Given the description of an element on the screen output the (x, y) to click on. 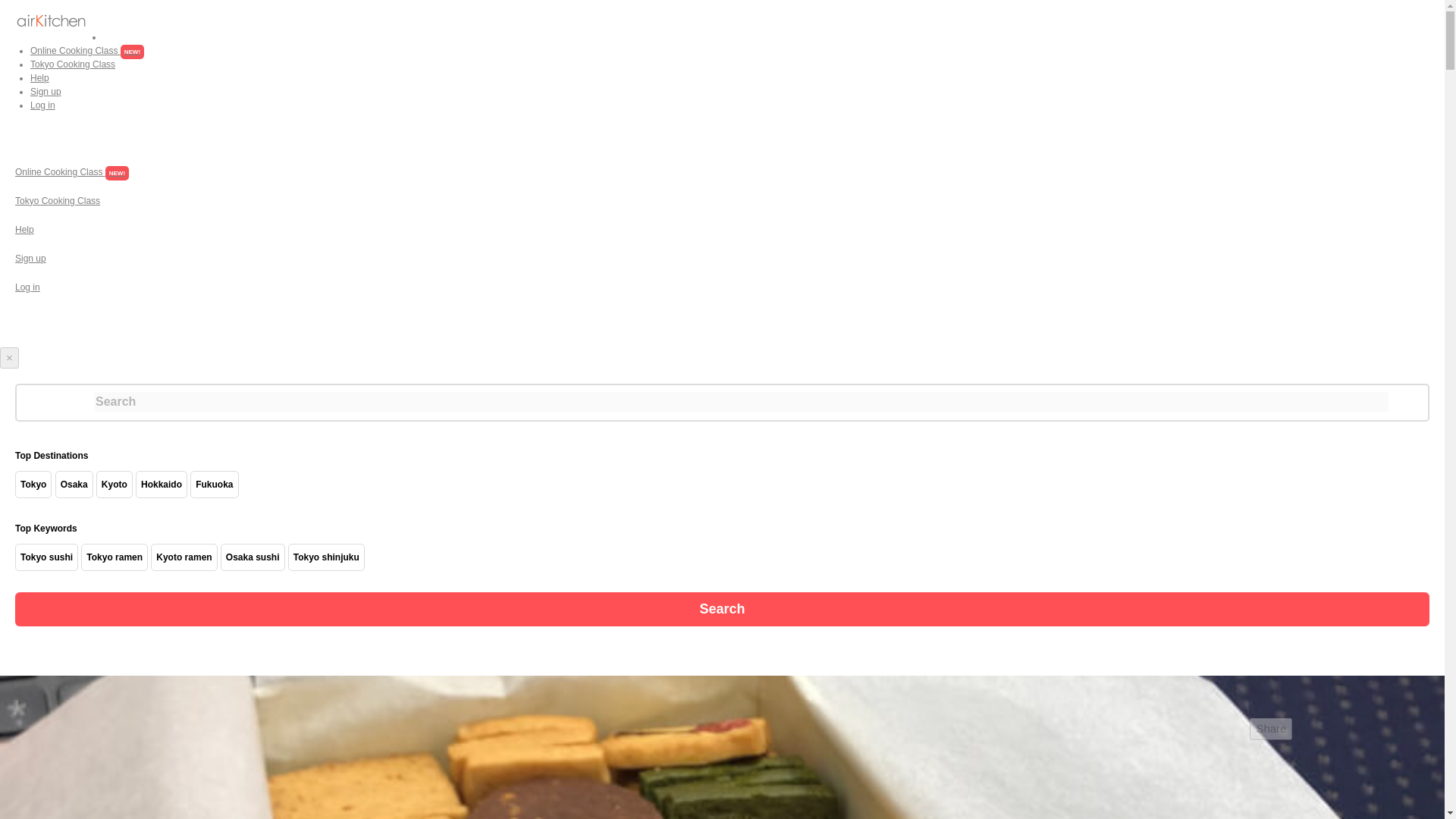
Search (721, 608)
Online Cooking Class NEW! (87, 50)
Osaka sushi (252, 557)
Kyoto ramen (183, 557)
Log in (42, 104)
Hokkaido (161, 484)
Log in (27, 286)
Tokyo Cooking Class (57, 200)
Tokyo (33, 484)
Tokyo Cooking Class (72, 63)
Help (39, 77)
Share (1270, 729)
Kyoto (114, 484)
Osaka (74, 484)
Fukuoka (213, 484)
